Given the description of an element on the screen output the (x, y) to click on. 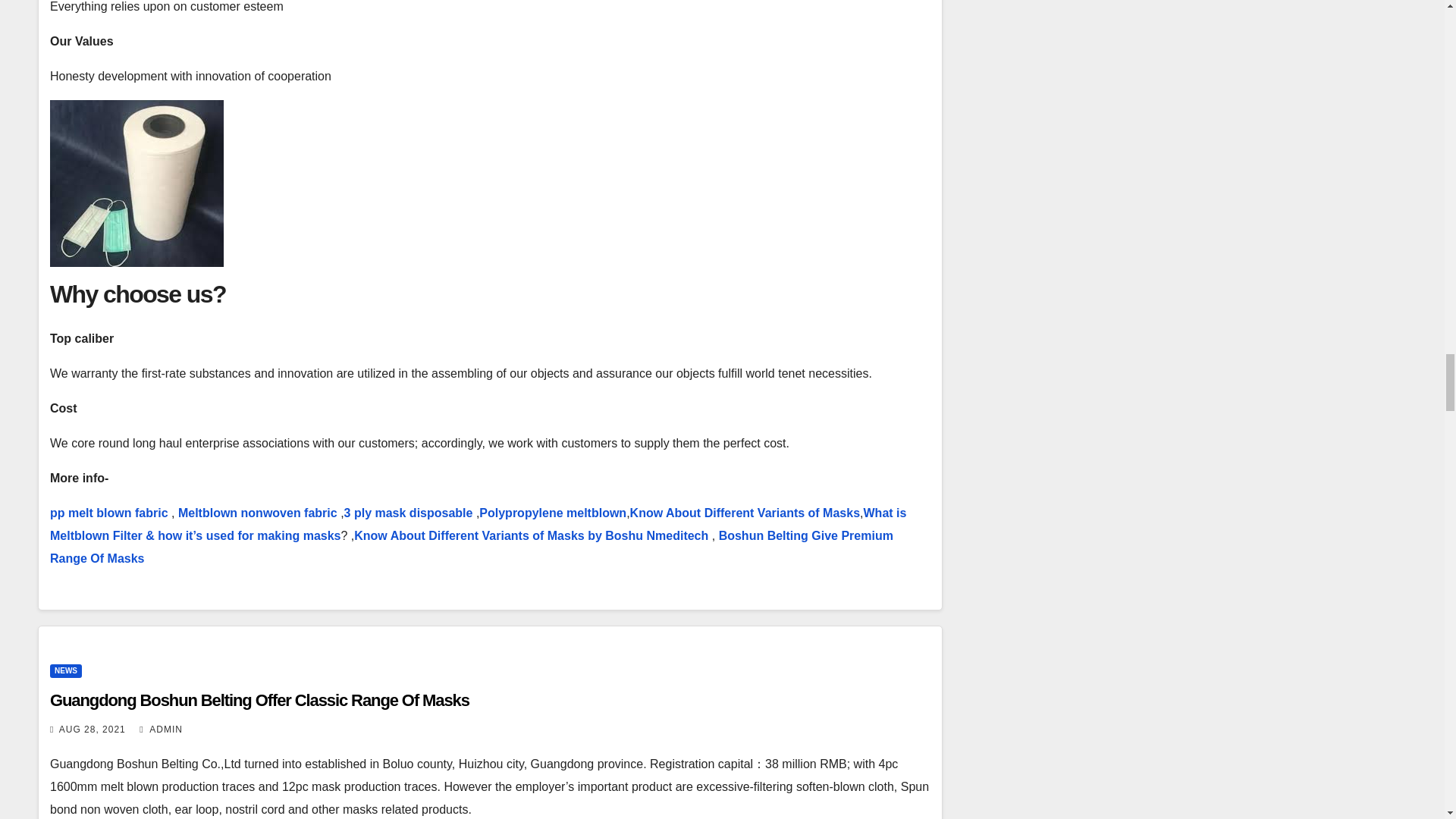
3 ply mask disposable (408, 512)
Polypropylene meltblown (552, 512)
pp melt blown fabric (108, 512)
Meltblown nonwoven fabric (257, 512)
Know About Different Variants of Masks (745, 512)
